Given the description of an element on the screen output the (x, y) to click on. 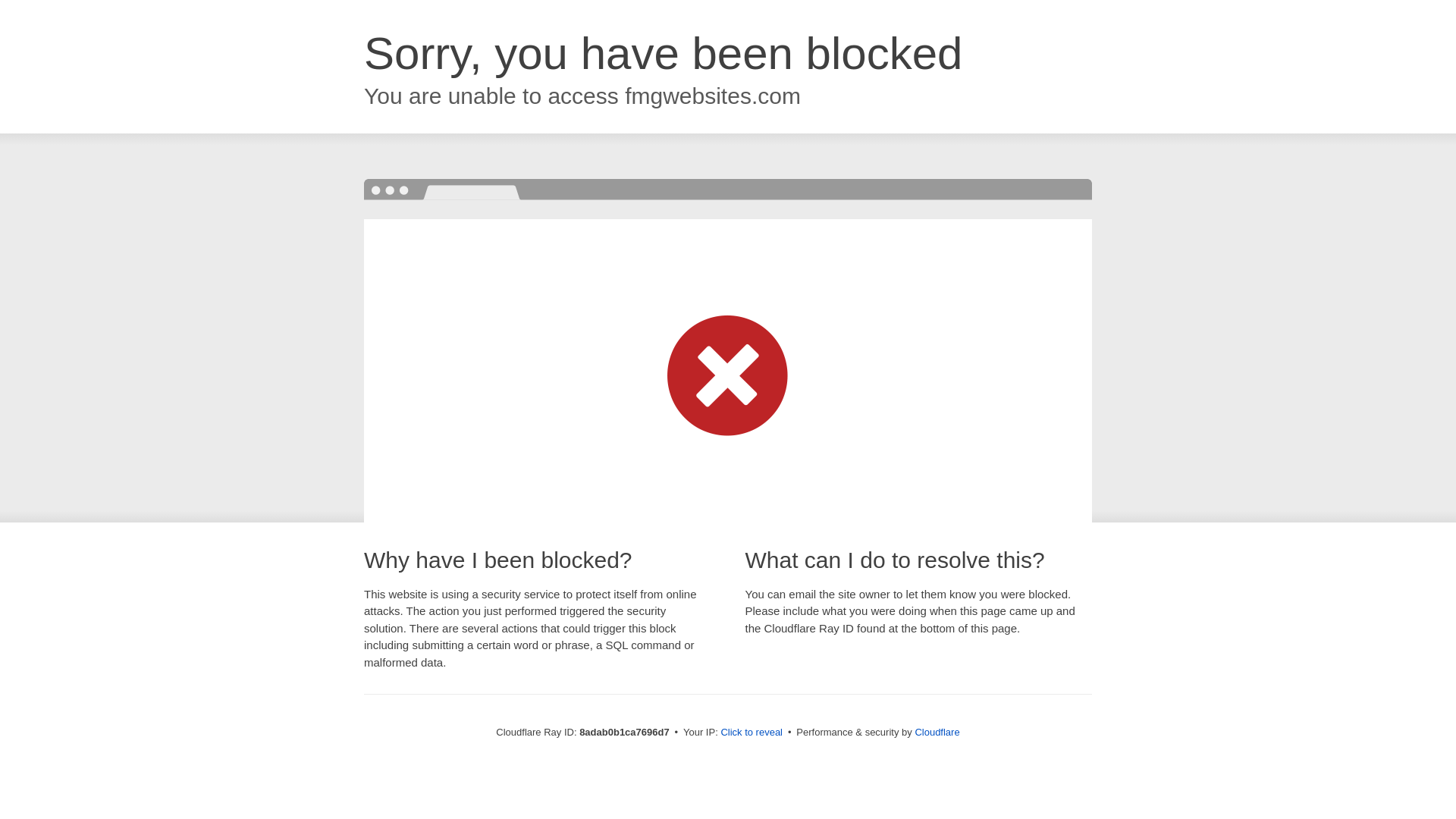
Click to reveal (751, 732)
Cloudflare (936, 731)
